Given the description of an element on the screen output the (x, y) to click on. 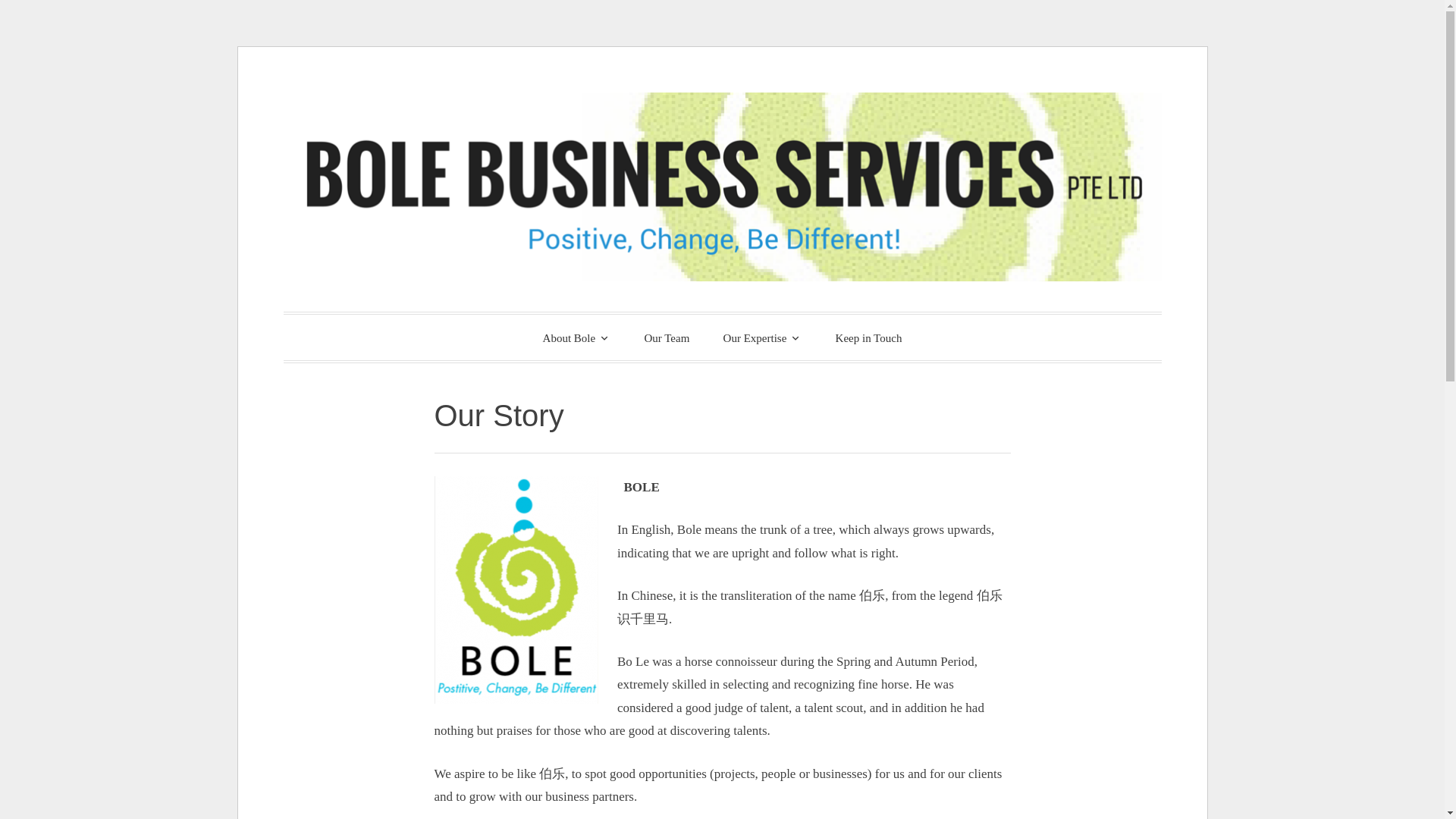
Keep in Touch (869, 338)
Our Expertise (761, 337)
Our Team (666, 338)
Bole Business Services (580, 334)
About Bole (576, 337)
